Given the description of an element on the screen output the (x, y) to click on. 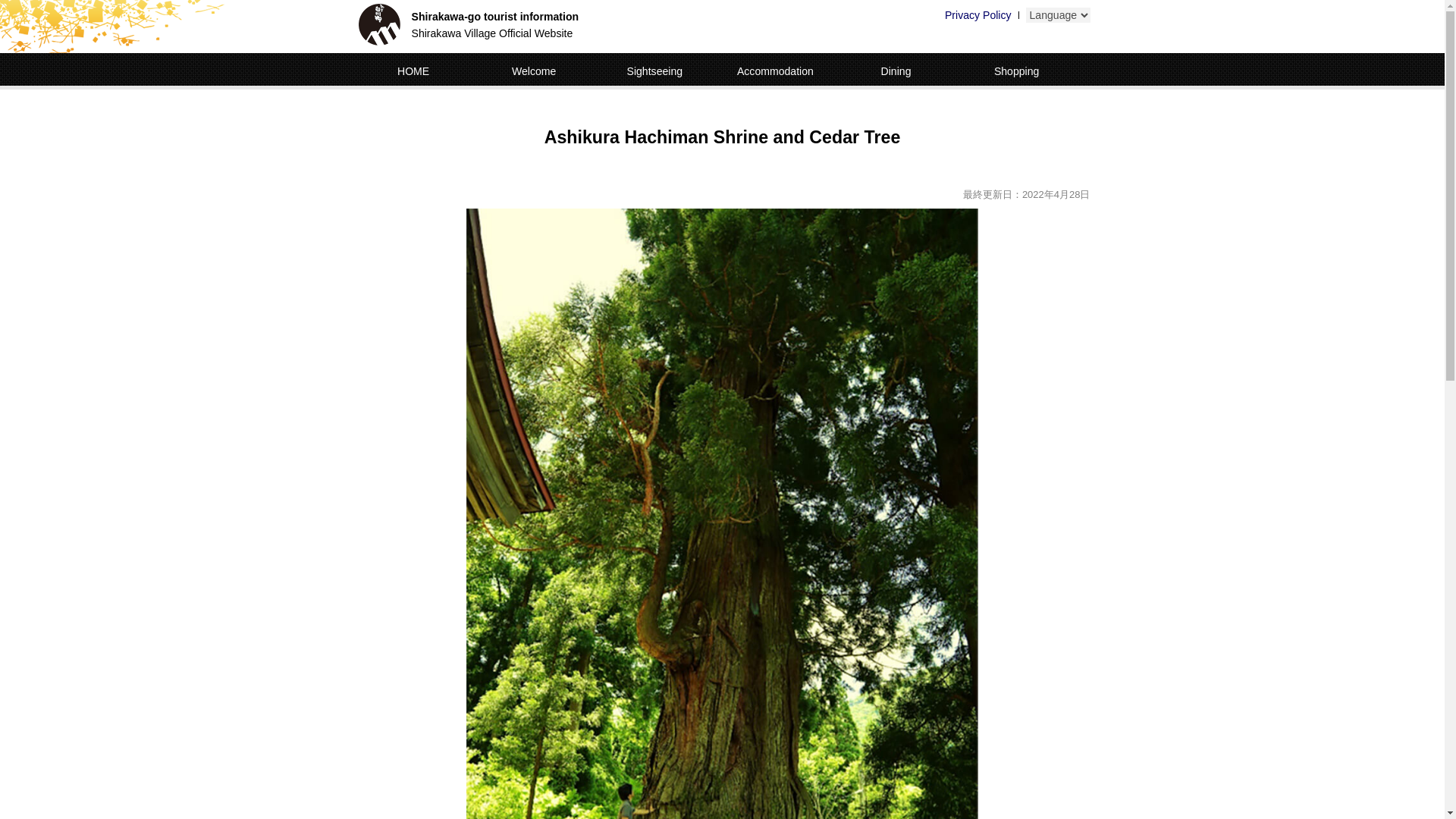
HOME (413, 71)
Sightseeing navigation in Shirakawa-go (378, 24)
Welcome (534, 71)
Sightseeing (654, 71)
Privacy Policy (977, 15)
